Given the description of an element on the screen output the (x, y) to click on. 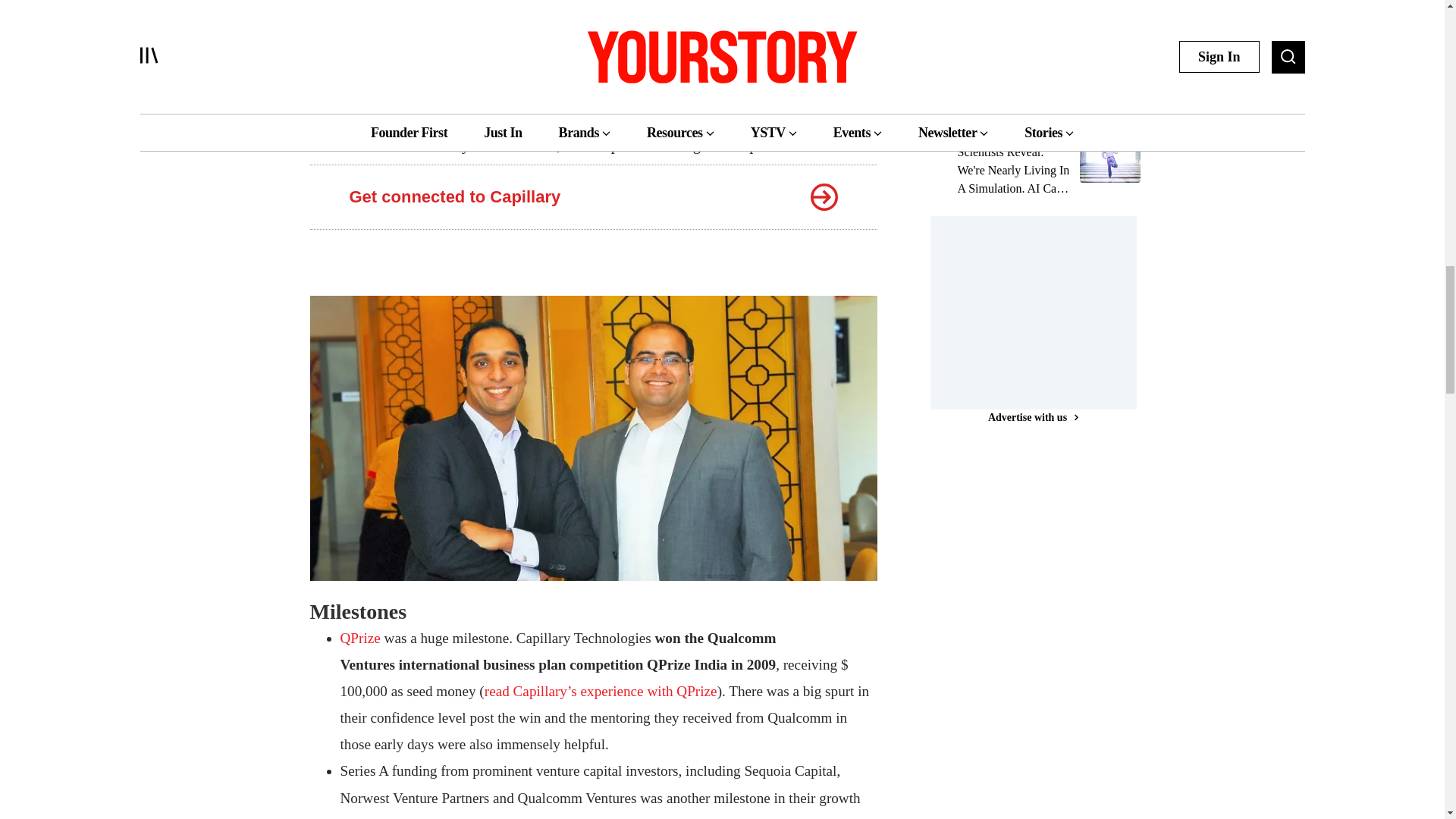
QPrize (359, 637)
AI GEN (973, 131)
FUNDING (979, 24)
3rd party ad content (1043, 310)
